Given the description of an element on the screen output the (x, y) to click on. 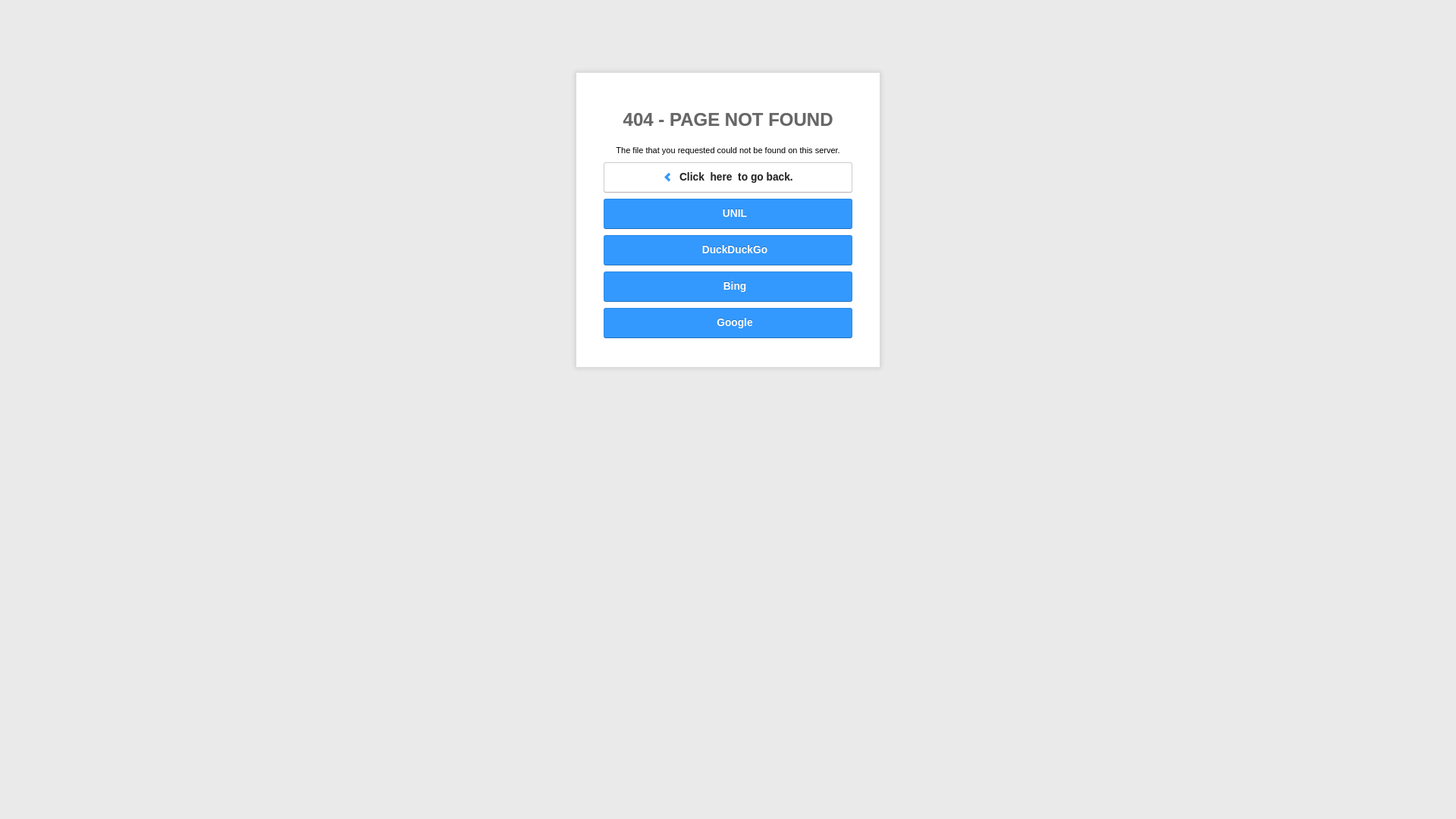
 UNIL (727, 214)
Google search (727, 322)
 Bing (727, 286)
 Google (727, 322)
Unil home (727, 214)
DuckDuckGo search (727, 250)
 Click  here  to go back. (727, 177)
 DuckDuckGo (727, 250)
Bing search (727, 286)
